Given the description of an element on the screen output the (x, y) to click on. 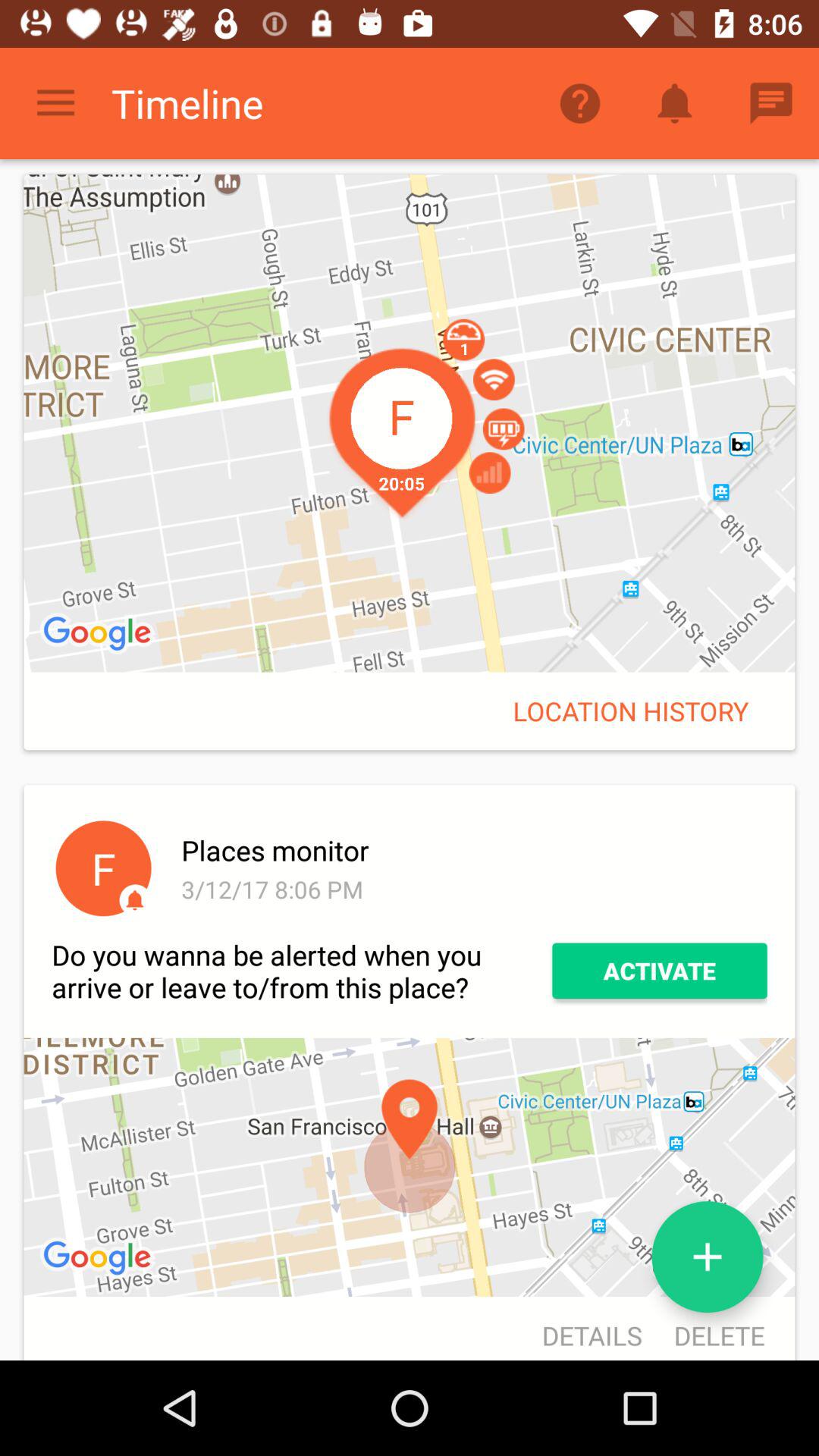
scroll until activate (659, 970)
